Given the description of an element on the screen output the (x, y) to click on. 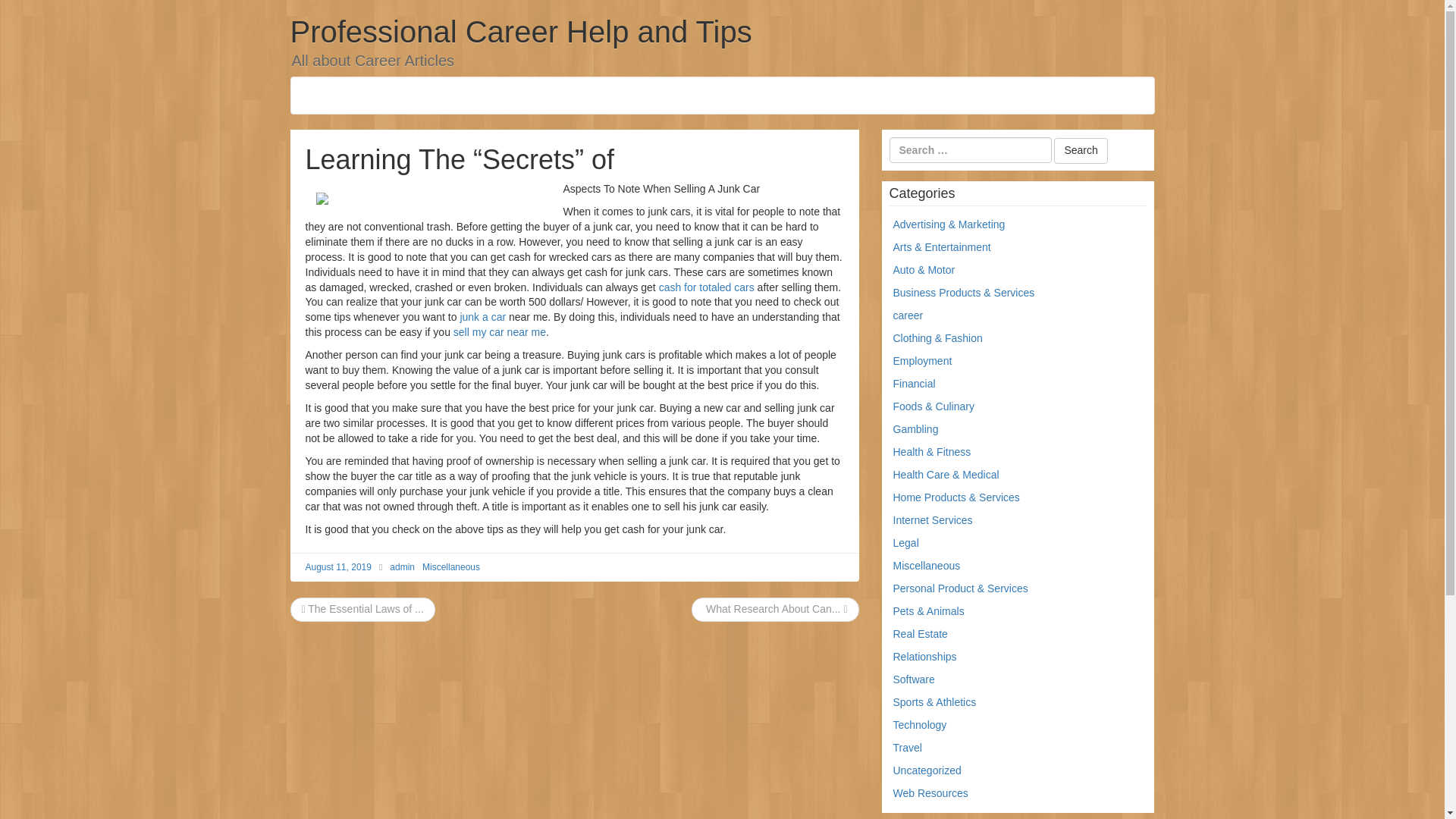
cash for totaled cars (706, 286)
career (908, 315)
Search (1080, 150)
Professional Career Help and Tips (520, 31)
Search (1080, 150)
Financial (914, 383)
Employment (922, 360)
Relationships (924, 656)
junk a car (482, 316)
August 11, 2019 (337, 566)
